Given the description of an element on the screen output the (x, y) to click on. 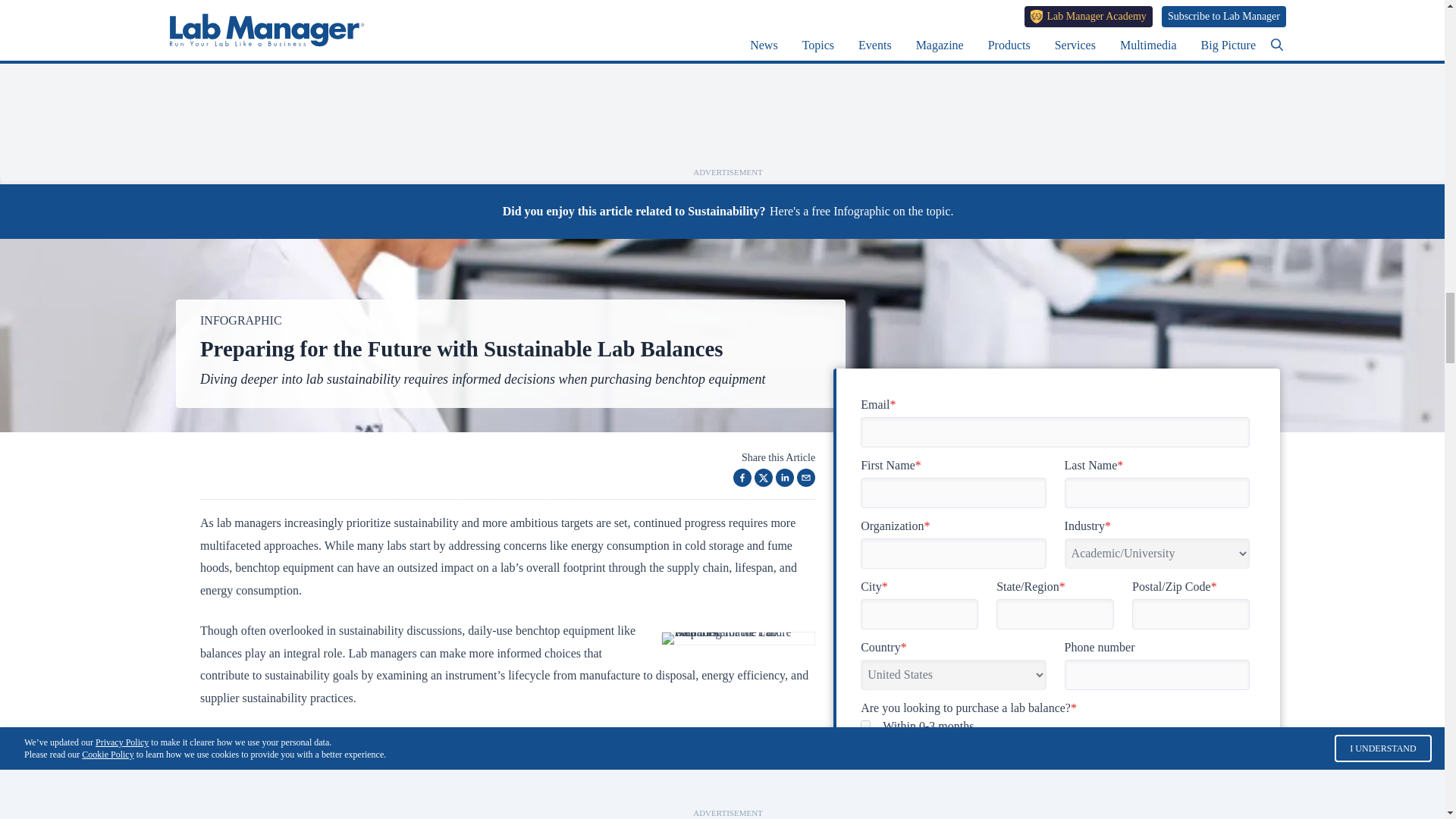
3rd party ad content (727, 83)
Within 0-3 months (865, 725)
Within 7-9 months (865, 761)
Preparing for the Future with Sustainable Lab Balances (737, 638)
Within 4-6 months (865, 743)
